Given the description of an element on the screen output the (x, y) to click on. 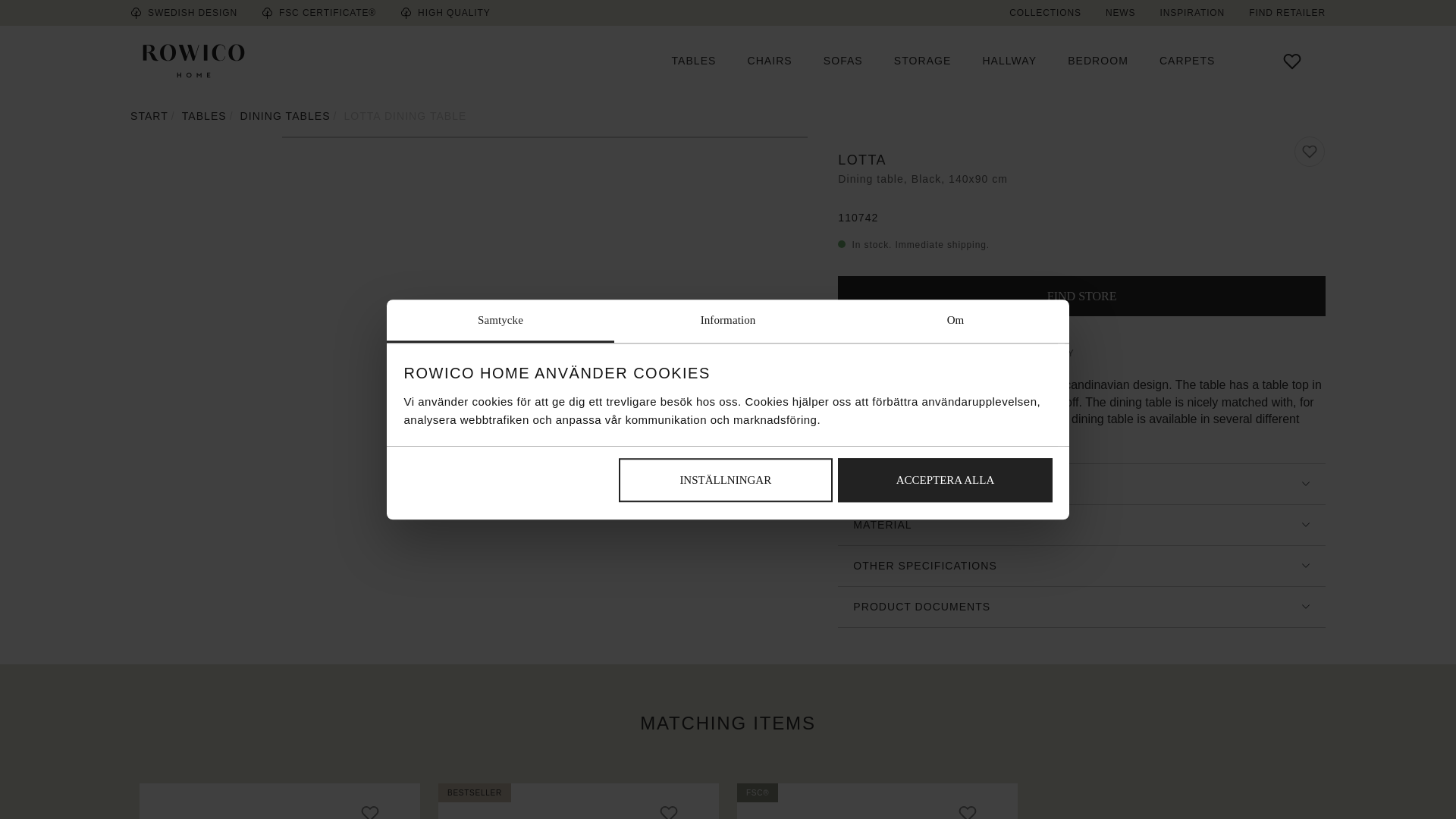
Om (954, 321)
Information (727, 321)
Samtycke (500, 321)
